Given the description of an element on the screen output the (x, y) to click on. 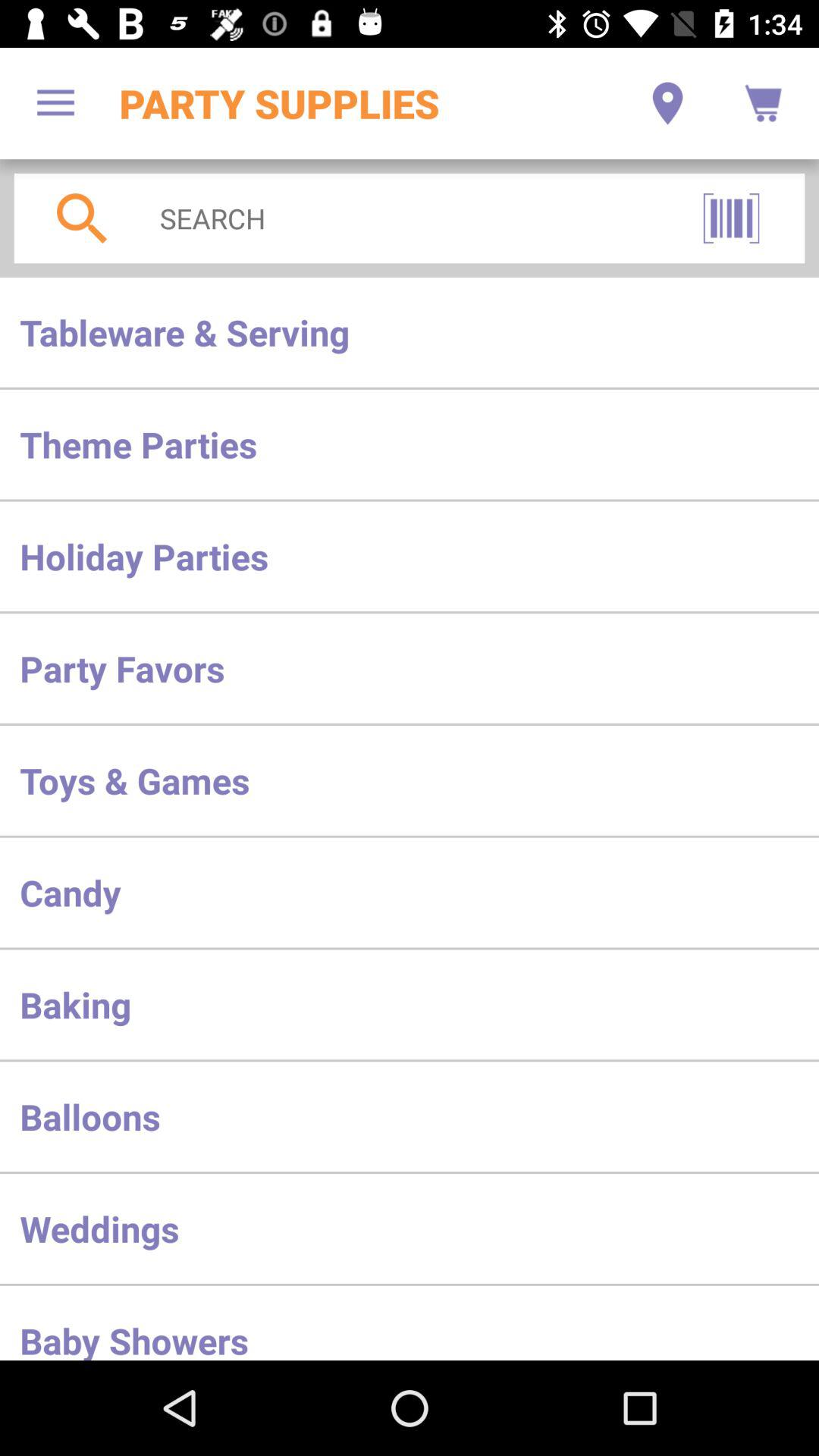
scroll to the tableware & serving item (409, 332)
